Given the description of an element on the screen output the (x, y) to click on. 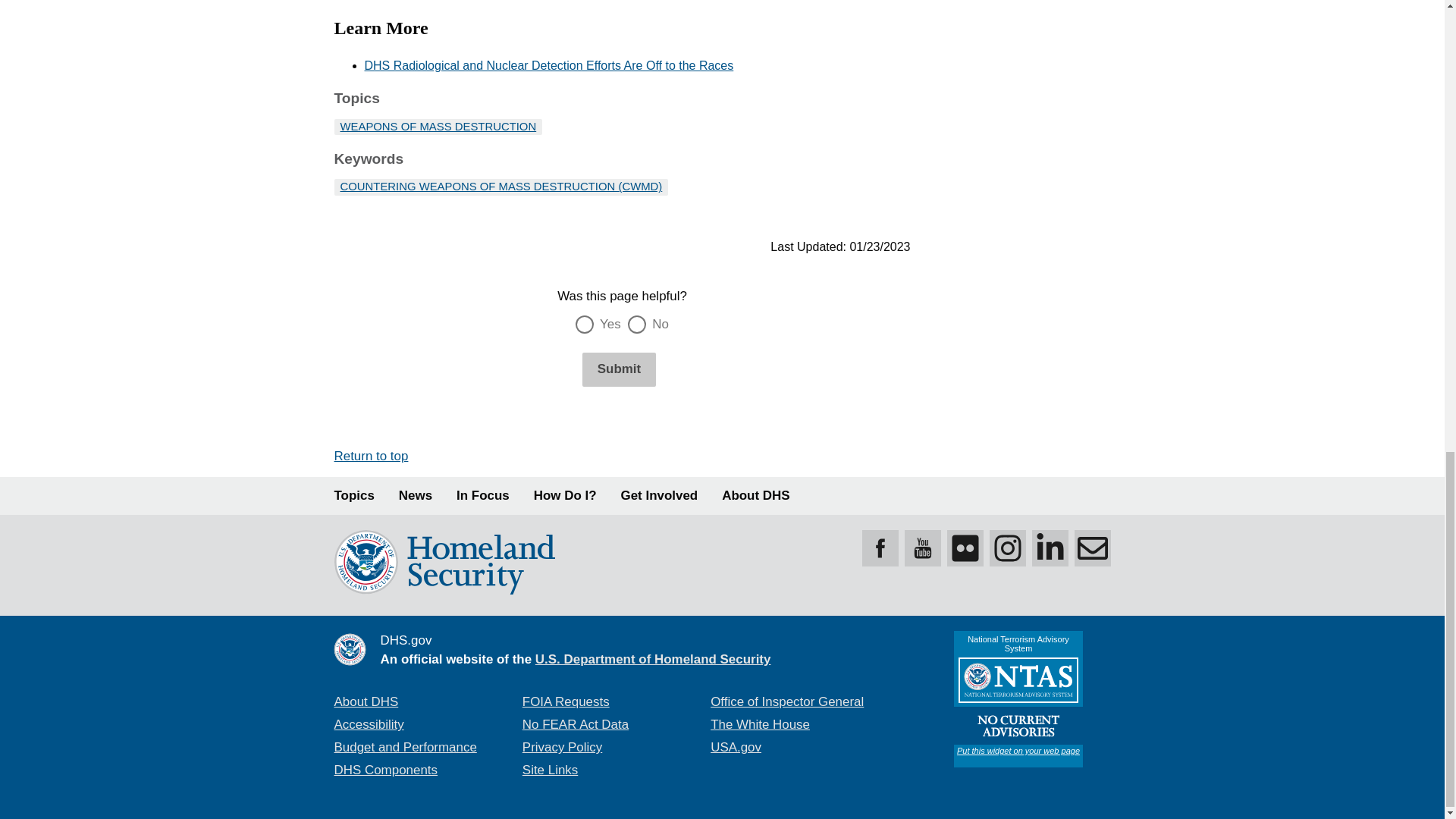
How Do I? (565, 495)
Topics (353, 495)
National Terrorism Advisory System (1018, 698)
The White House (759, 724)
USA.gov (735, 747)
About DHS (755, 495)
Topics (353, 495)
Office of the Inspector General (786, 701)
About DHS (365, 701)
Get Involved (659, 495)
WEAPONS OF MASS DESTRUCTION (437, 126)
Submit (619, 368)
Submit (619, 368)
DHS Components (385, 769)
Return to top (370, 455)
